Given the description of an element on the screen output the (x, y) to click on. 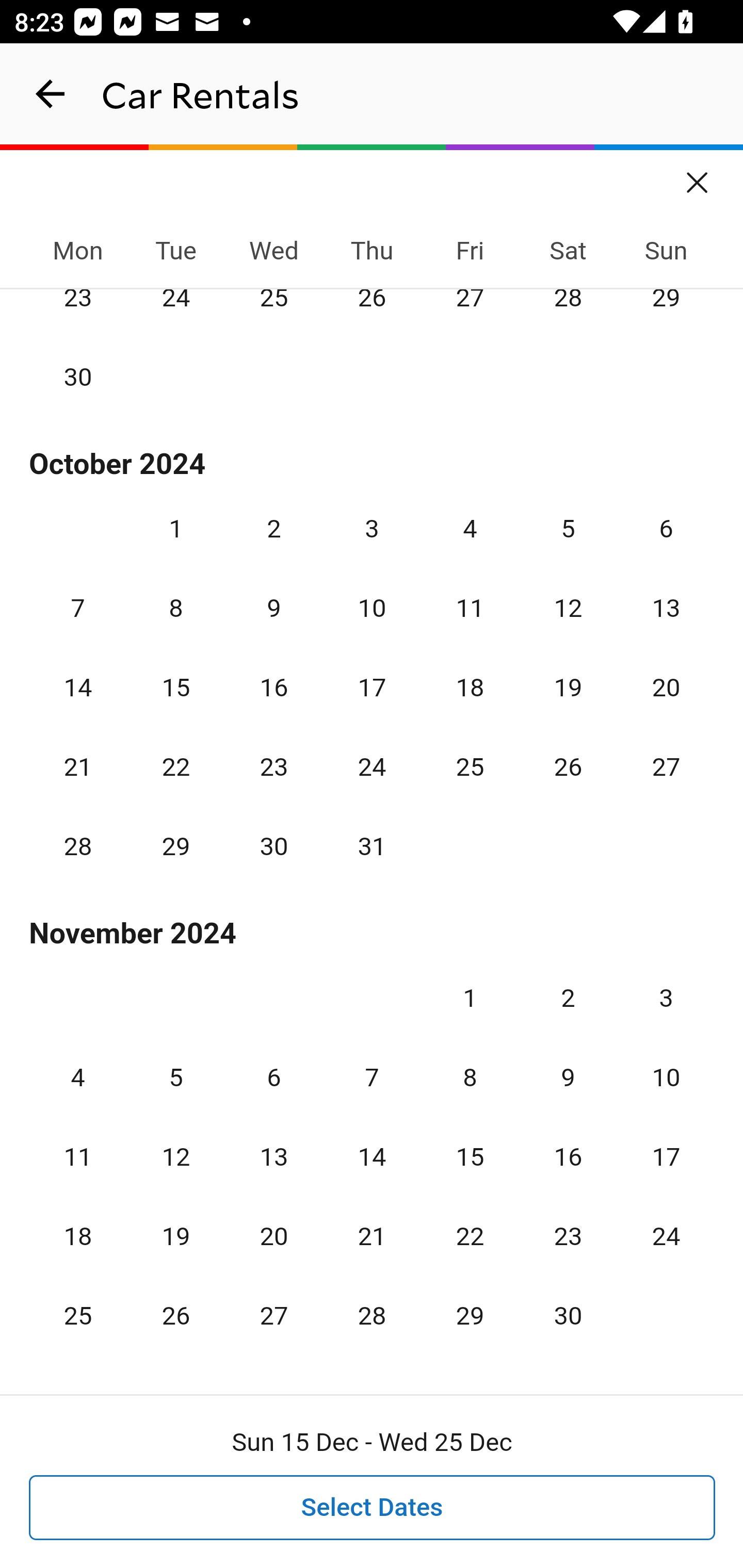
navigation_button (50, 93)
Close (697, 176)
23 September 2024 (77, 310)
24 September 2024 (175, 310)
25 September 2024 (273, 310)
26 September 2024 (371, 310)
27 September 2024 (470, 310)
28 September 2024 (567, 310)
29 September 2024 (665, 310)
30 September 2024 (77, 375)
1 October 2024 (175, 528)
2 October 2024 (273, 528)
3 October 2024 (371, 528)
4 October 2024 (470, 528)
5 October 2024 (567, 528)
6 October 2024 (665, 528)
7 October 2024 (77, 607)
8 October 2024 (175, 607)
9 October 2024 (273, 607)
10 October 2024 (371, 607)
11 October 2024 (470, 607)
12 October 2024 (567, 607)
13 October 2024 (665, 607)
14 October 2024 (77, 686)
15 October 2024 (175, 686)
16 October 2024 (273, 686)
17 October 2024 (371, 686)
18 October 2024 (470, 686)
19 October 2024 (567, 686)
20 October 2024 (665, 686)
21 October 2024 (77, 766)
22 October 2024 (175, 766)
23 October 2024 (273, 766)
24 October 2024 (371, 766)
25 October 2024 (470, 766)
26 October 2024 (567, 766)
27 October 2024 (665, 766)
28 October 2024 (77, 846)
29 October 2024 (175, 846)
30 October 2024 (273, 846)
31 October 2024 (371, 846)
1 November 2024 (470, 997)
2 November 2024 (567, 997)
3 November 2024 (665, 997)
4 November 2024 (77, 1076)
5 November 2024 (175, 1076)
6 November 2024 (273, 1076)
7 November 2024 (371, 1076)
8 November 2024 (470, 1076)
9 November 2024 (567, 1076)
10 November 2024 (665, 1076)
11 November 2024 (77, 1156)
12 November 2024 (175, 1156)
13 November 2024 (273, 1156)
14 November 2024 (371, 1156)
15 November 2024 (470, 1156)
16 November 2024 (567, 1156)
17 November 2024 (665, 1156)
18 November 2024 (77, 1235)
19 November 2024 (175, 1235)
20 November 2024 (273, 1235)
21 November 2024 (371, 1235)
22 November 2024 (470, 1235)
23 November 2024 (567, 1235)
24 November 2024 (665, 1235)
25 November 2024 (77, 1314)
26 November 2024 (175, 1314)
27 November 2024 (273, 1314)
28 November 2024 (371, 1314)
29 November 2024 (470, 1314)
30 November 2024 (567, 1314)
Select Dates (372, 1508)
